Given the description of an element on the screen output the (x, y) to click on. 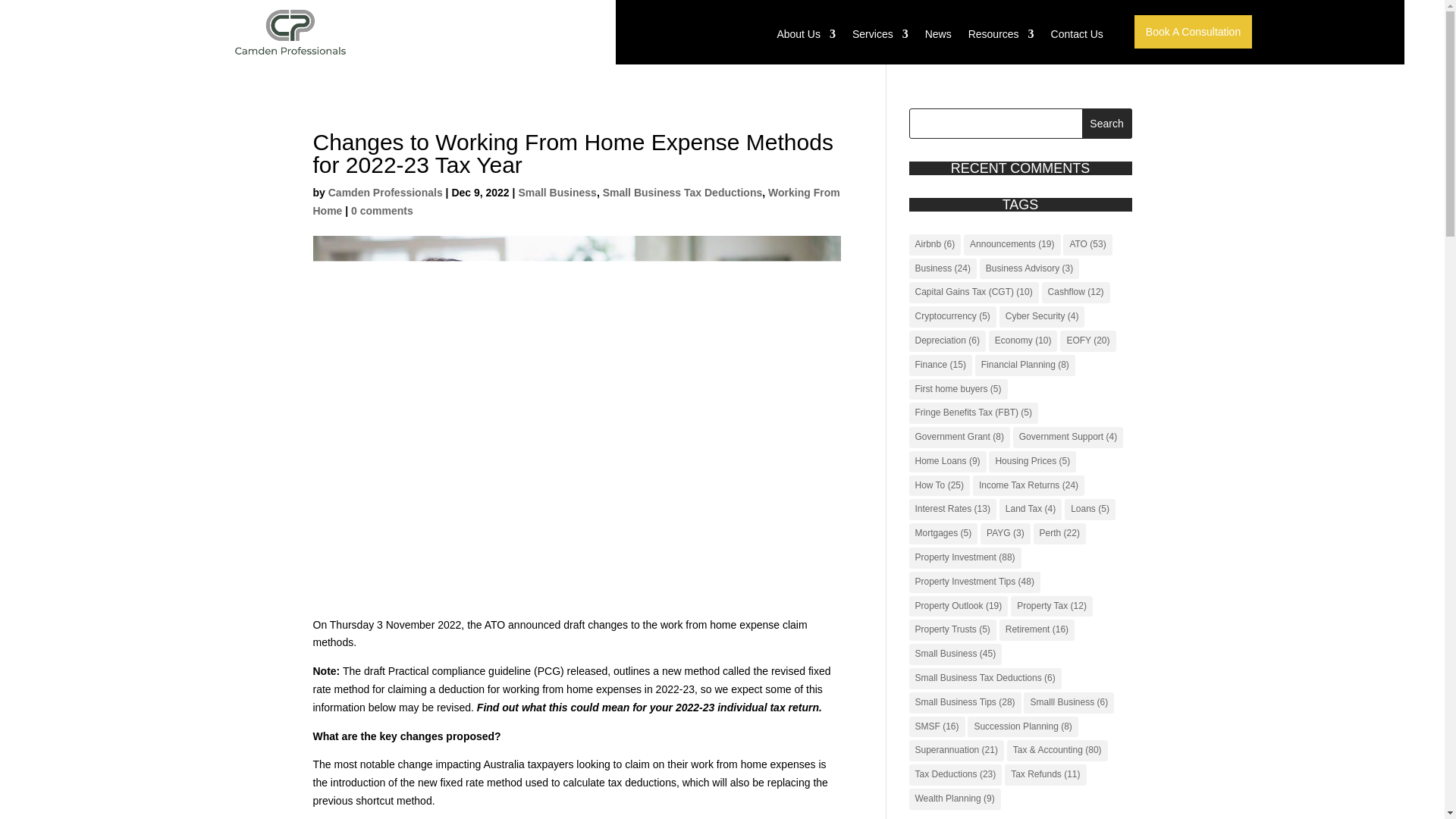
Working From Home (576, 201)
Small Business (557, 192)
Search (1106, 123)
Book A Consultation (1193, 31)
Search (1106, 123)
0 comments (381, 210)
Contact Us (1077, 38)
Resources (1000, 38)
Services (879, 38)
Small Business Tax Deductions (682, 192)
